Given the description of an element on the screen output the (x, y) to click on. 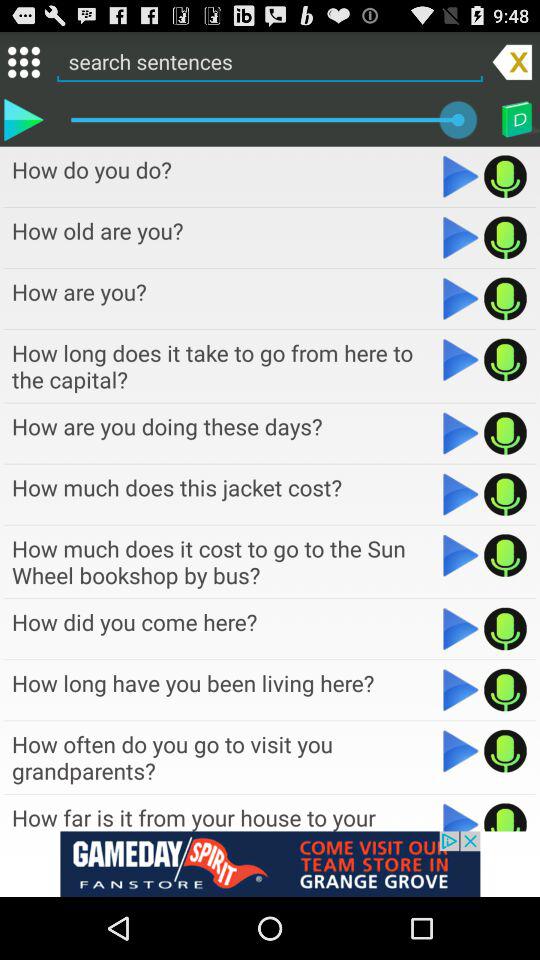
play audio (460, 555)
